Given the description of an element on the screen output the (x, y) to click on. 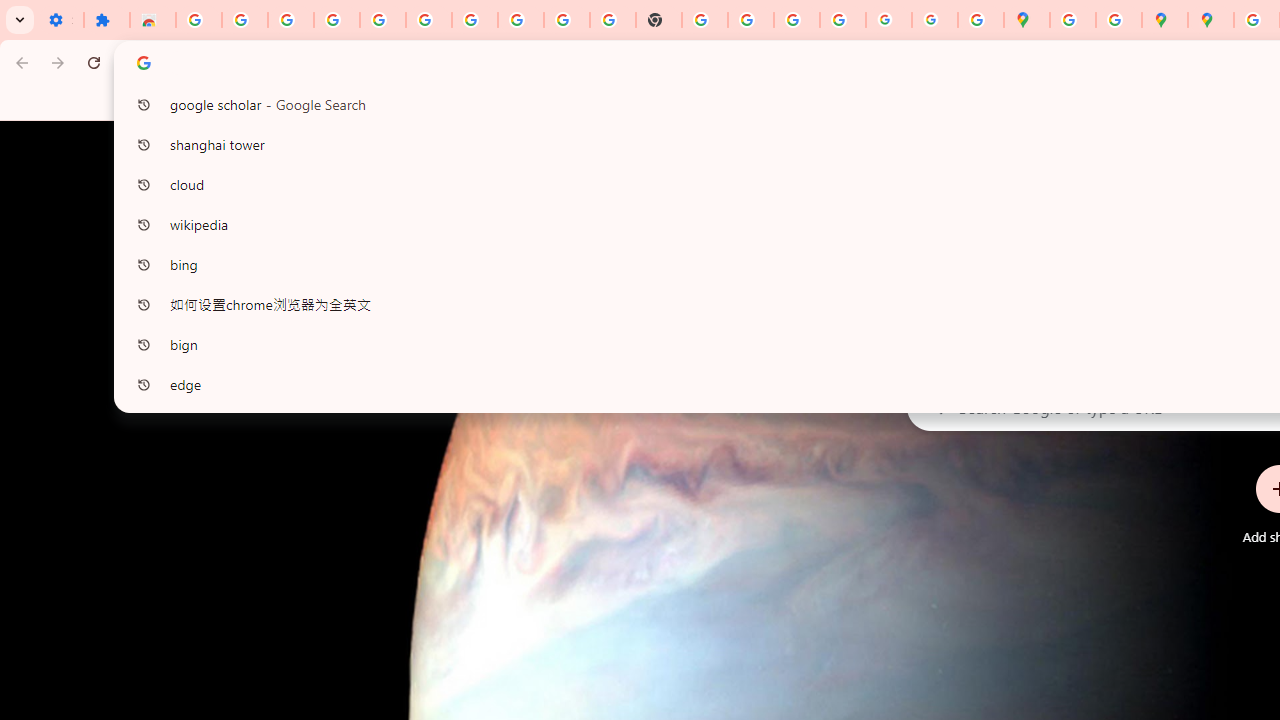
Sign in - Google Accounts (428, 20)
Google Account (520, 20)
Delete photos & videos - Computer - Google Photos Help (290, 20)
Safety in Our Products - Google Safety Center (1118, 20)
New Tab (659, 20)
Settings - On startup (60, 20)
Sign in - Google Accounts (198, 20)
https://scholar.google.com/ (705, 20)
